Given the description of an element on the screen output the (x, y) to click on. 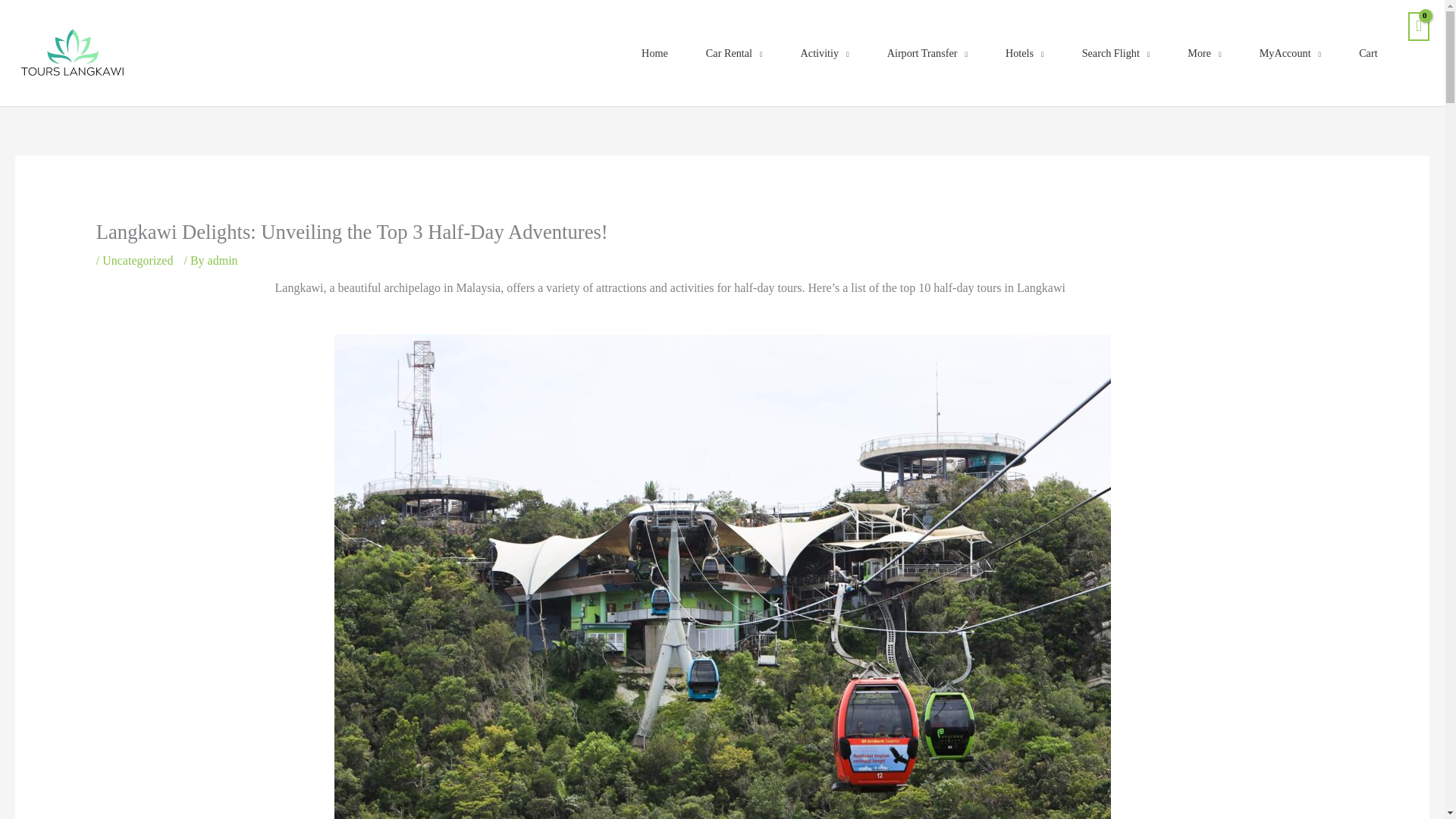
More (1204, 52)
Home (654, 52)
Activitiy (825, 52)
View all posts by admin (223, 259)
Airport Transfer (927, 52)
Search Flight (1116, 52)
Hotels (1024, 52)
Car Rental (733, 52)
